Given the description of an element on the screen output the (x, y) to click on. 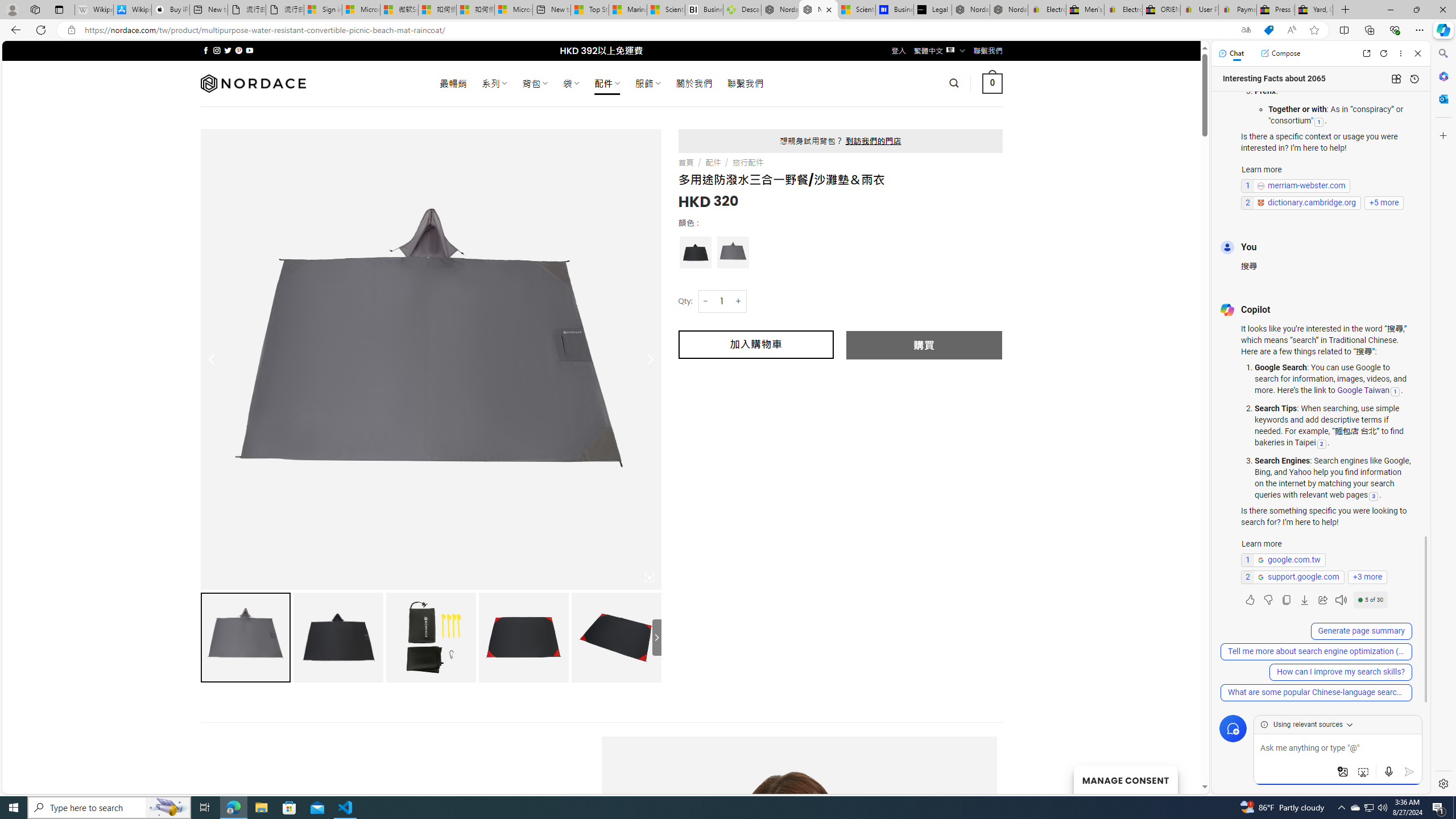
MANAGE CONSENT (1125, 779)
User Privacy Notice | eBay (1198, 9)
- (705, 300)
